Given the description of an element on the screen output the (x, y) to click on. 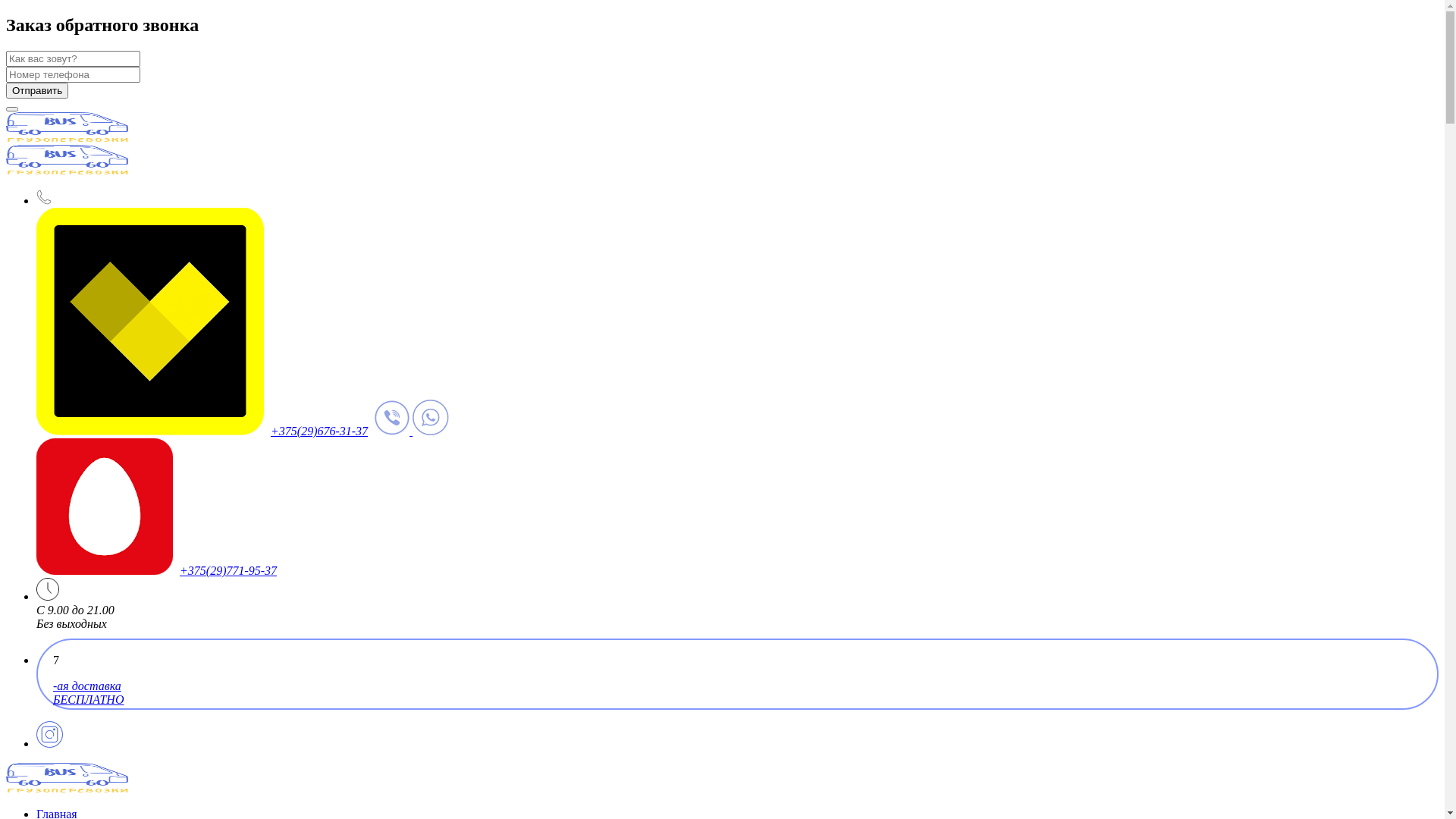
+375(29)771-95-37 Element type: text (227, 570)
+375(29)676-31-37 Element type: text (318, 430)
